Given the description of an element on the screen output the (x, y) to click on. 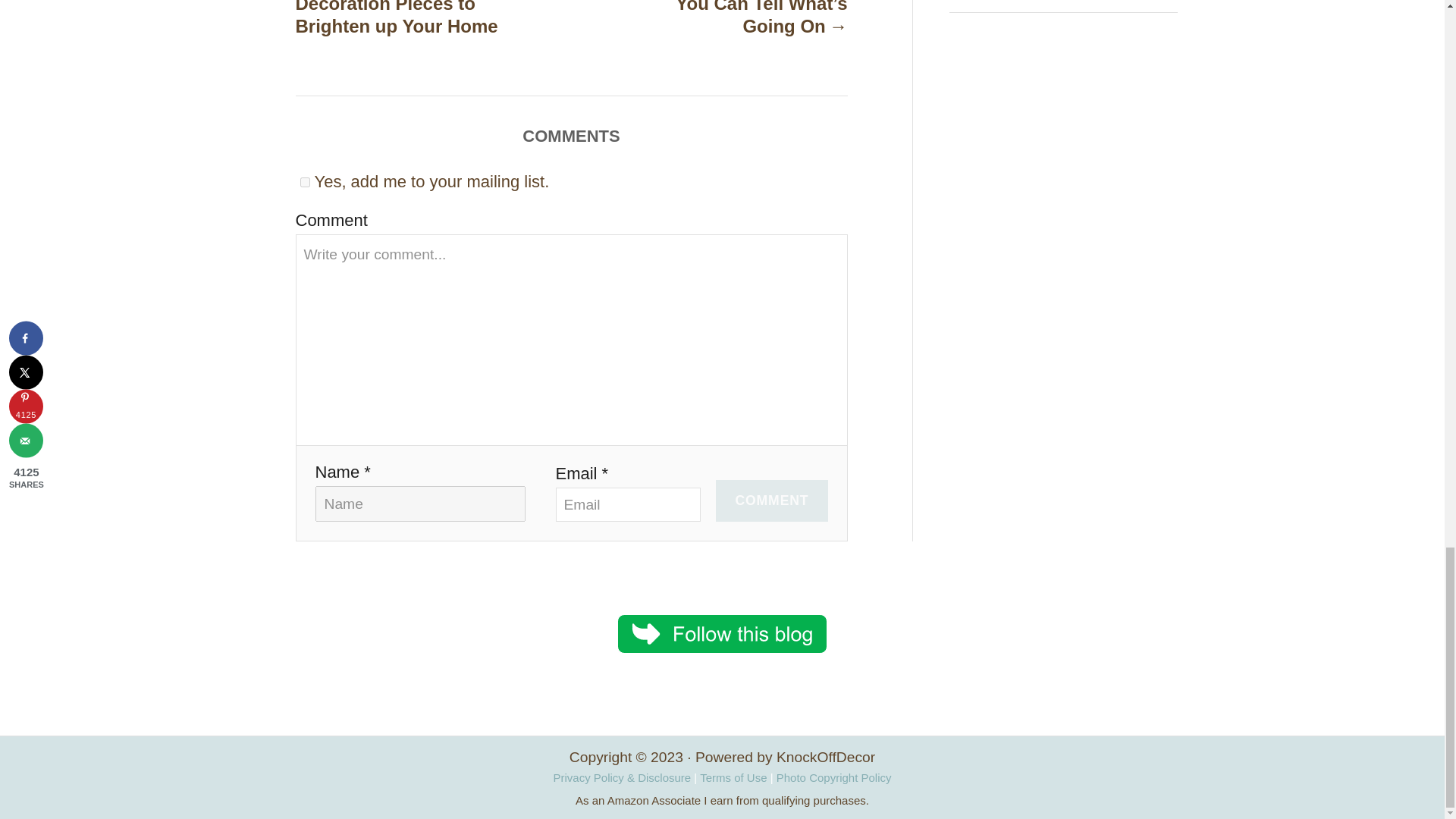
1 (304, 182)
